Given the description of an element on the screen output the (x, y) to click on. 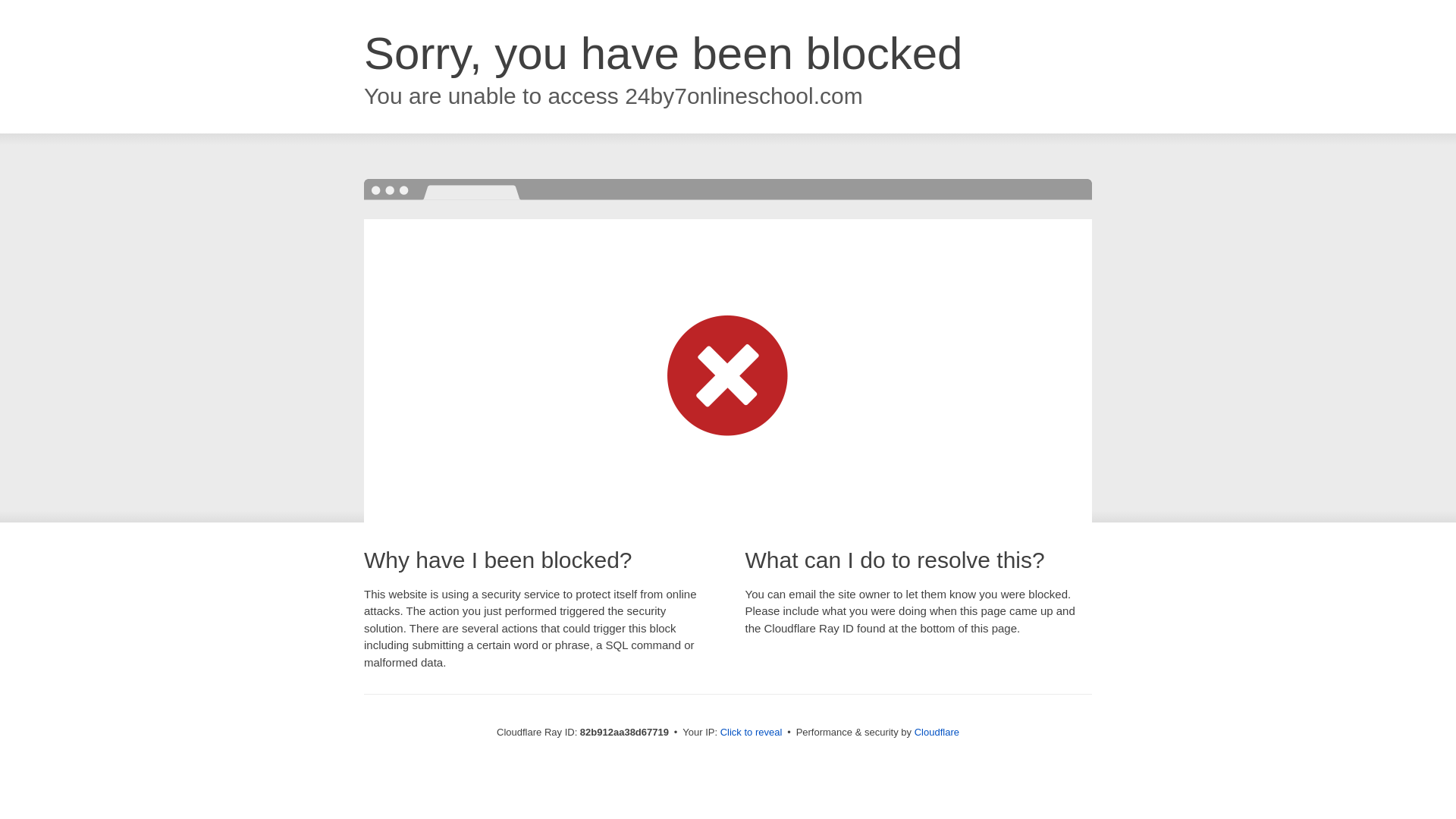
Click to reveal Element type: text (751, 732)
Cloudflare Element type: text (936, 731)
